Given the description of an element on the screen output the (x, y) to click on. 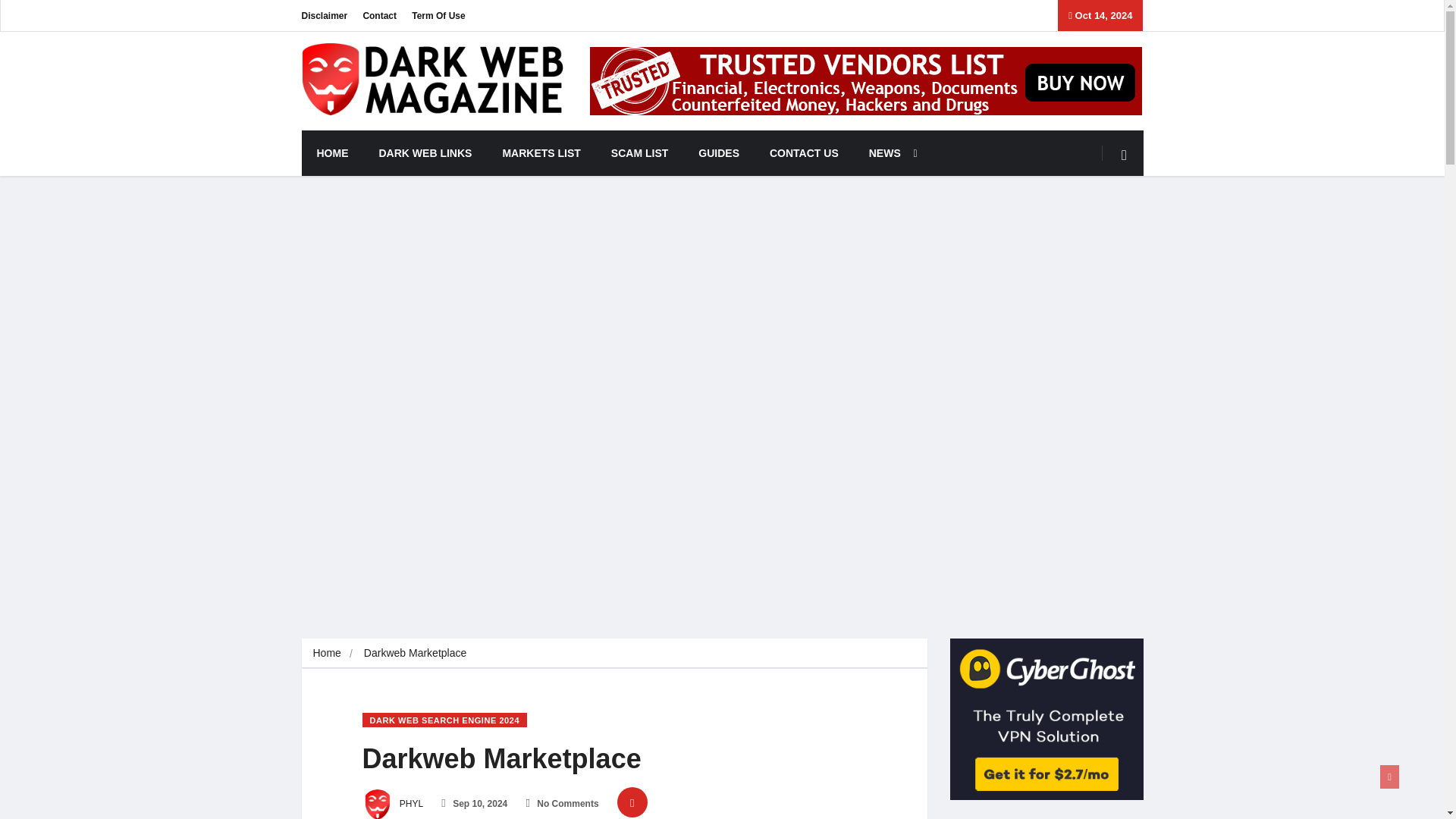
GUIDES (718, 153)
DARK WEB LINKS (425, 153)
SCAM LIST (638, 153)
Term Of Use (438, 15)
HOME (332, 153)
Home (326, 653)
Disclaimer (324, 15)
NEWS (888, 153)
MARKETS LIST (540, 153)
PHYL (392, 803)
CONTACT US (803, 153)
Contact (379, 15)
DARK WEB SEARCH ENGINE 2024 (444, 719)
